Given the description of an element on the screen output the (x, y) to click on. 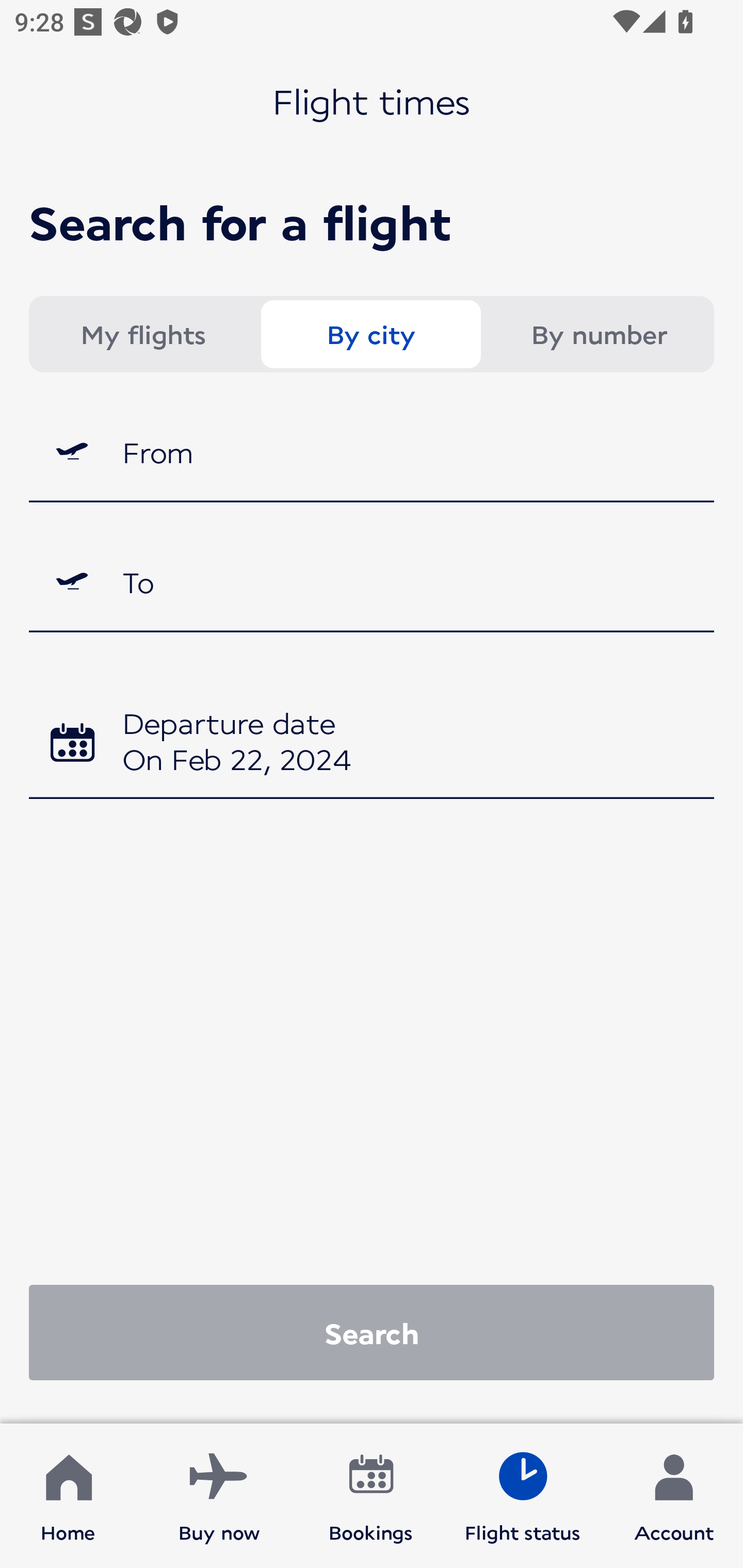
My flights (142, 334)
By city (370, 334)
By number (598, 334)
From (371, 451)
To (371, 581)
On Feb 22, 2024 Departure date (371, 744)
Search (371, 1331)
Home (68, 1495)
Buy now (219, 1495)
Bookings (370, 1495)
Account (674, 1495)
